Given the description of an element on the screen output the (x, y) to click on. 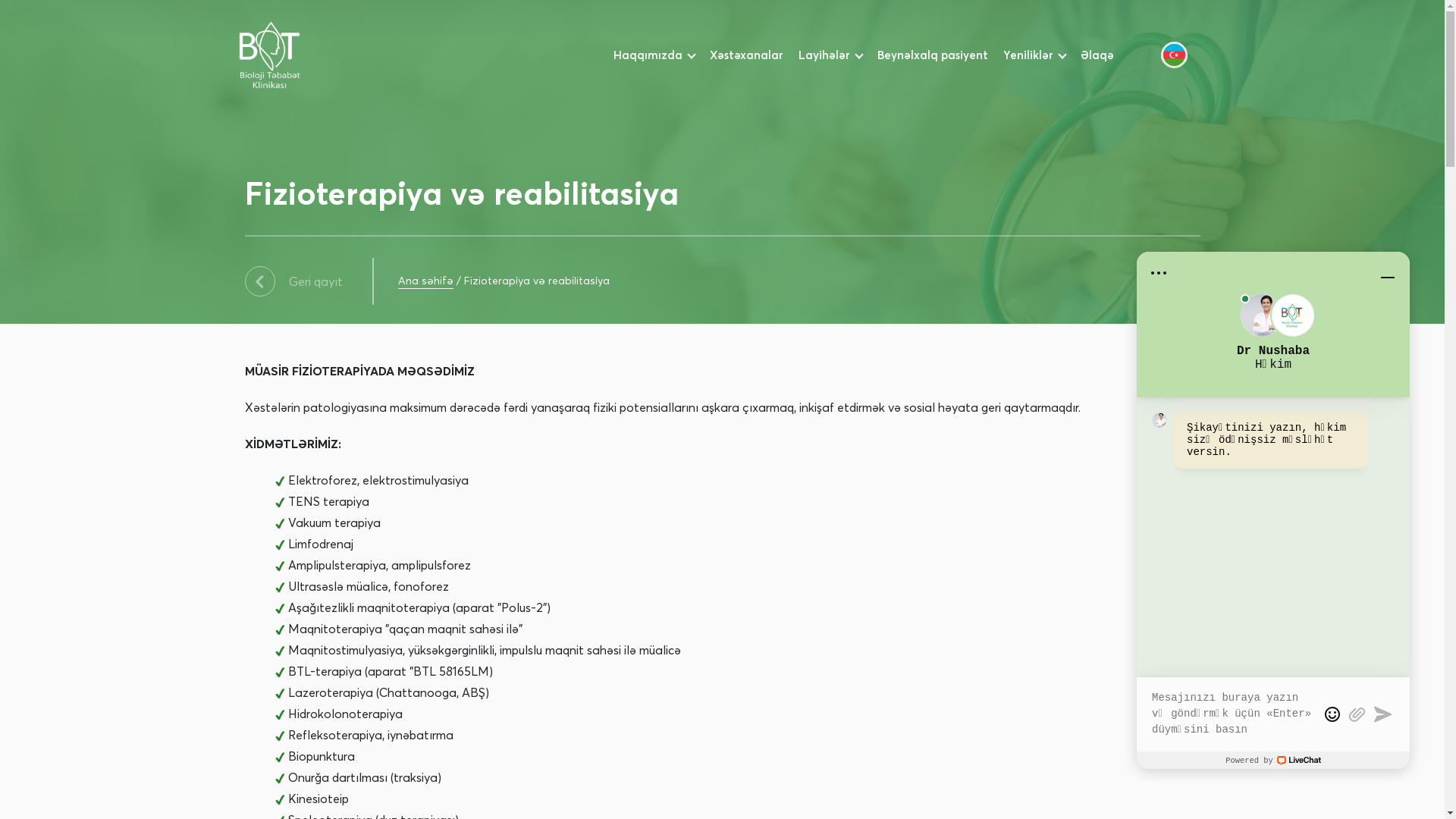
LiveChat chat widget Element type: hover (1272, 510)
